Given the description of an element on the screen output the (x, y) to click on. 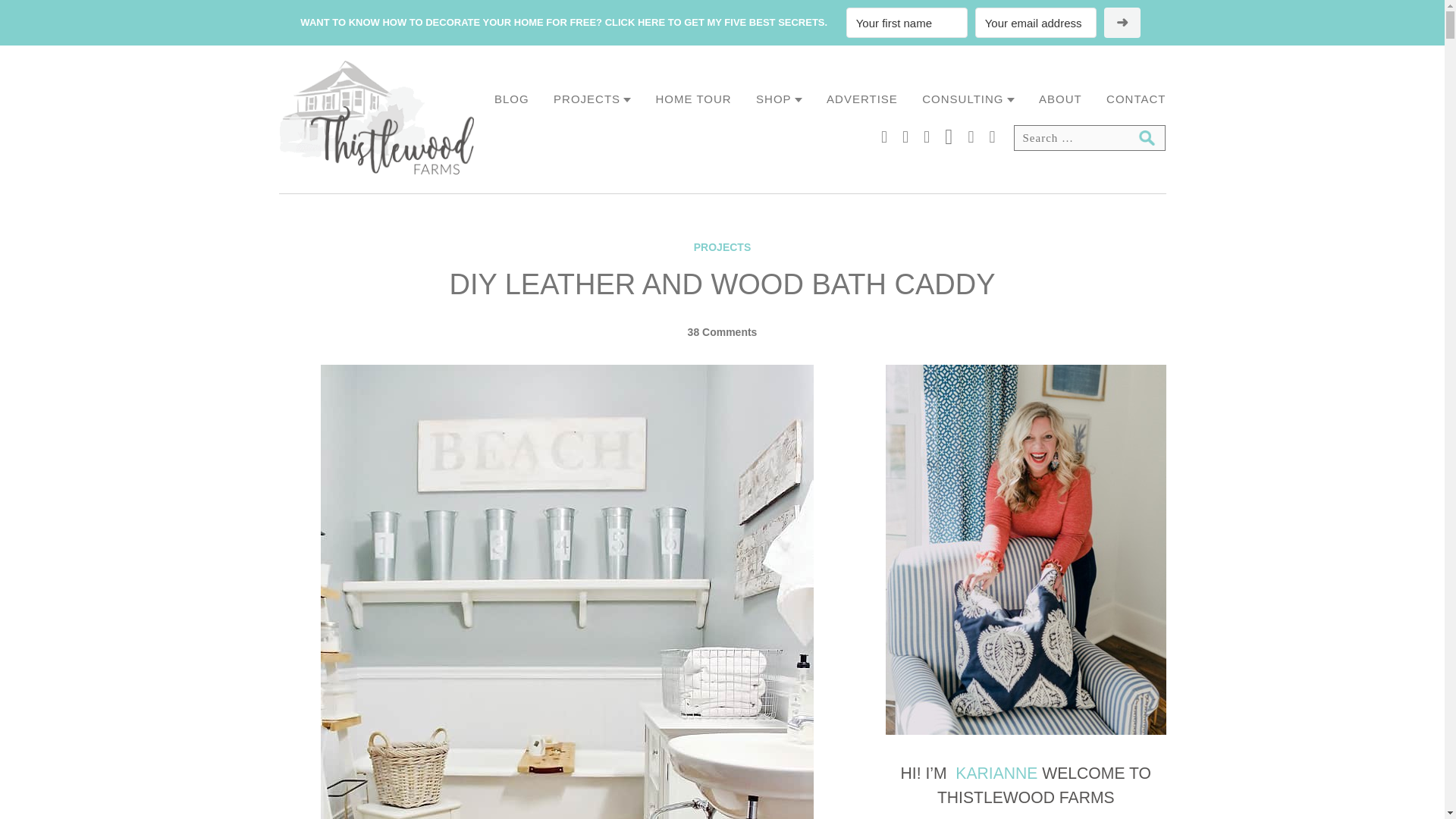
Search (1147, 137)
BLOG (512, 99)
HOME TOUR (694, 99)
PROJECTS (722, 246)
ADVERTISE (862, 99)
YES, I WANT IT (1121, 22)
SHOP (778, 99)
PROJECTS (591, 99)
Search (1147, 137)
CONSULTING (967, 99)
